Given the description of an element on the screen output the (x, y) to click on. 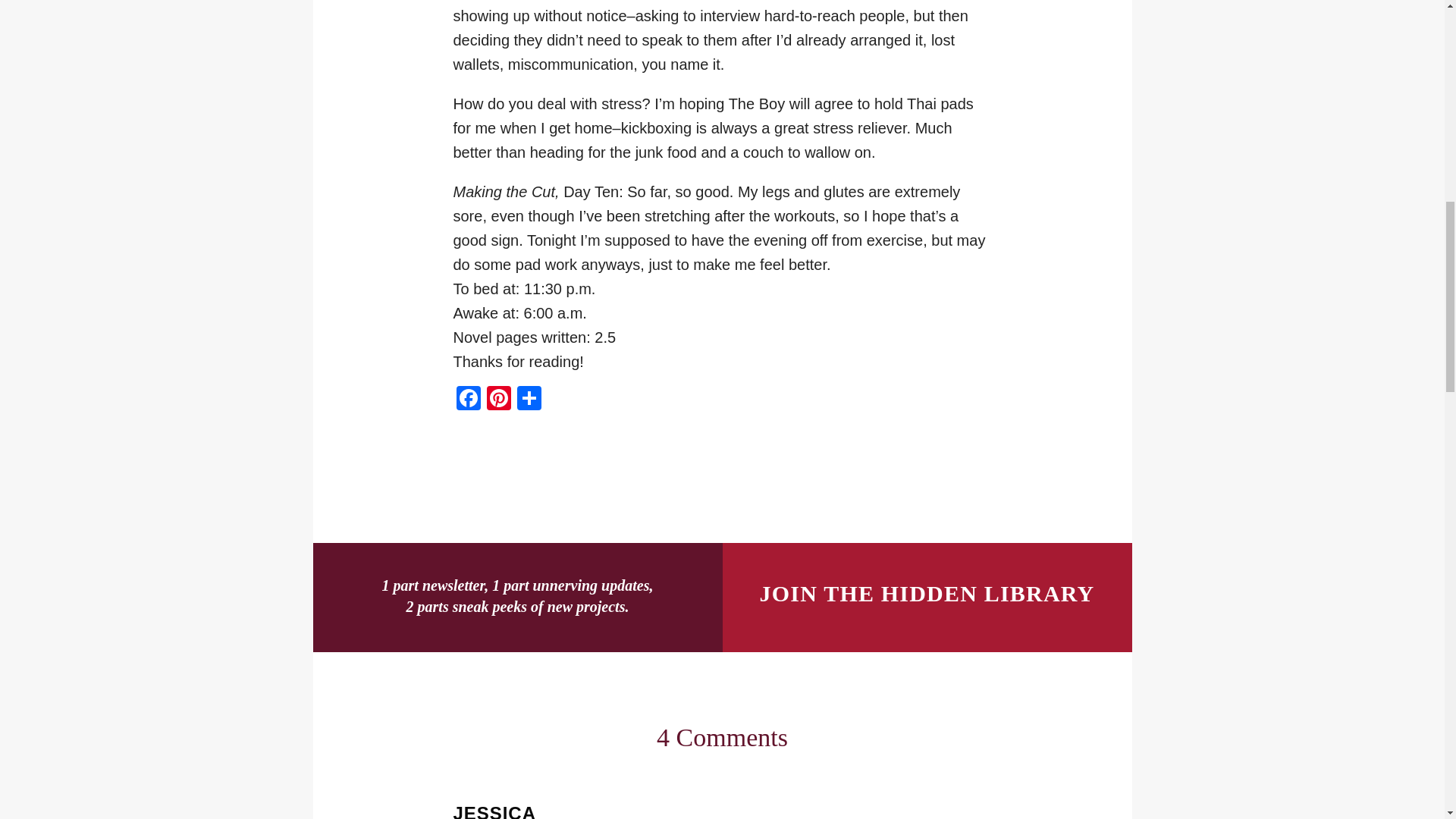
Facebook (467, 399)
Pinterest (498, 399)
Facebook (467, 399)
Pinterest (498, 399)
